Given the description of an element on the screen output the (x, y) to click on. 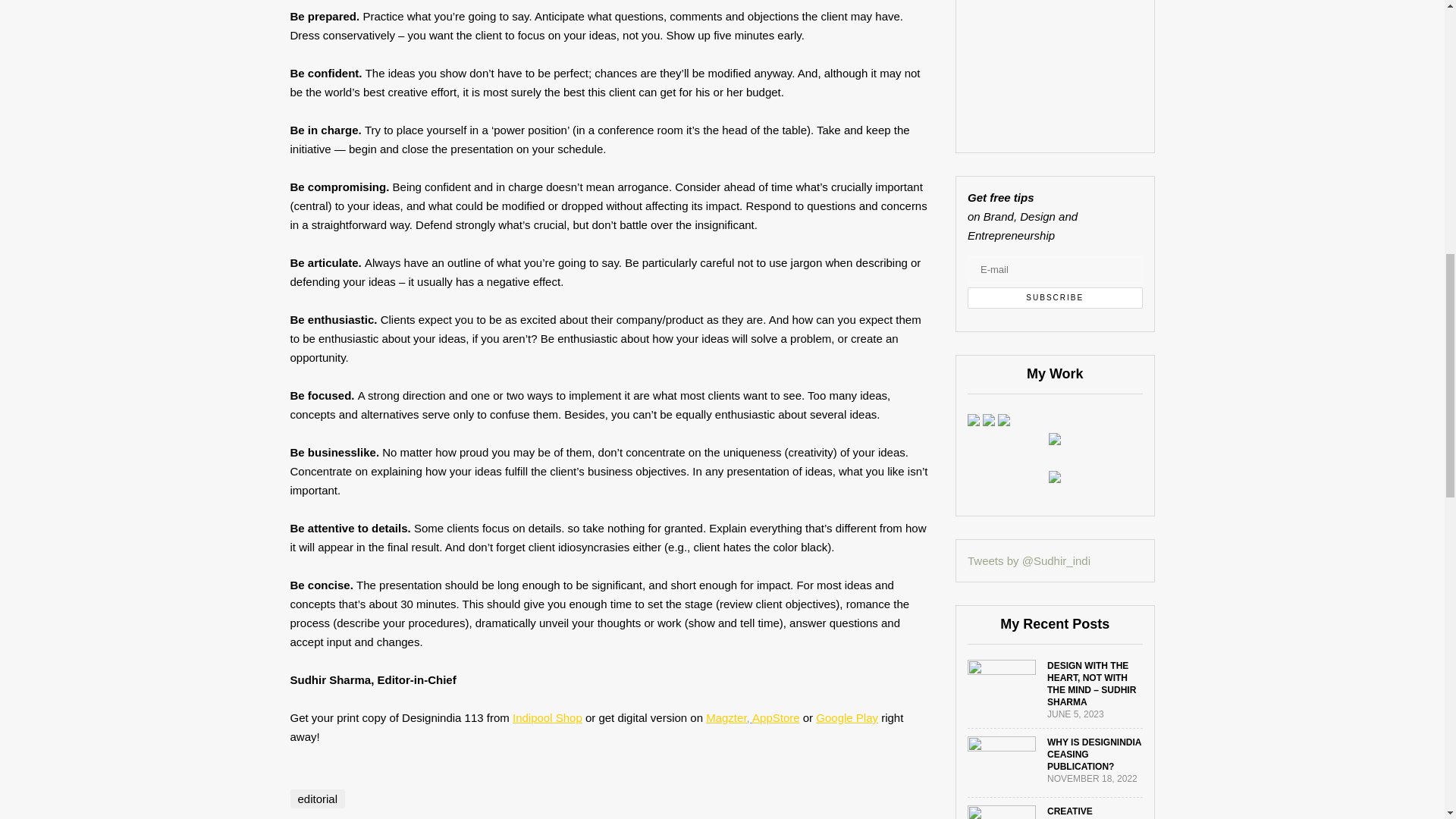
editorial (317, 798)
Subscribe (1055, 297)
Indipool Shop (547, 717)
Magzter, (729, 717)
Google Play (846, 717)
AppStore (775, 717)
